Given the description of an element on the screen output the (x, y) to click on. 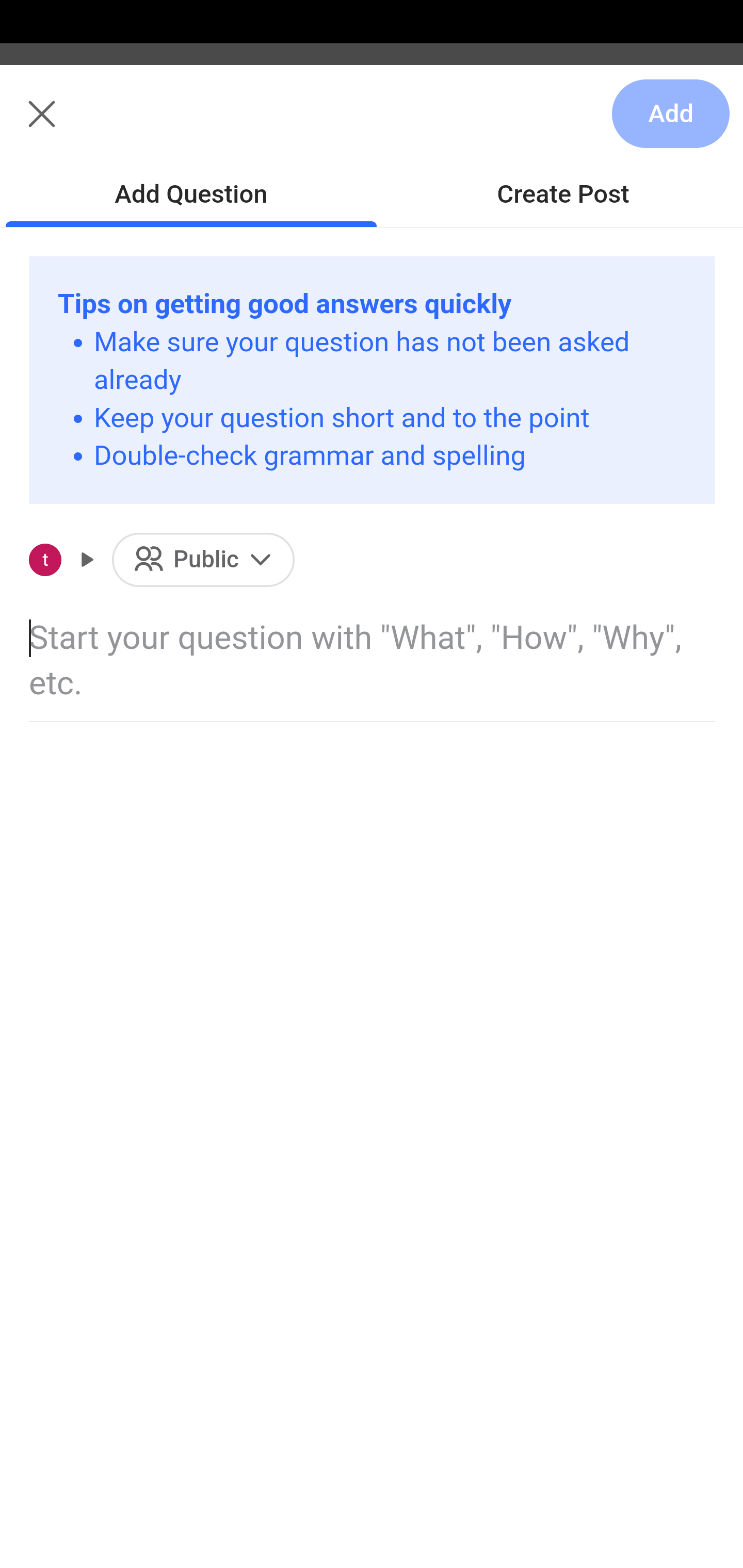
Me Home Search Add (371, 125)
Me (64, 125)
Icon for All LGBTQ+ (57, 560)
